Given the description of an element on the screen output the (x, y) to click on. 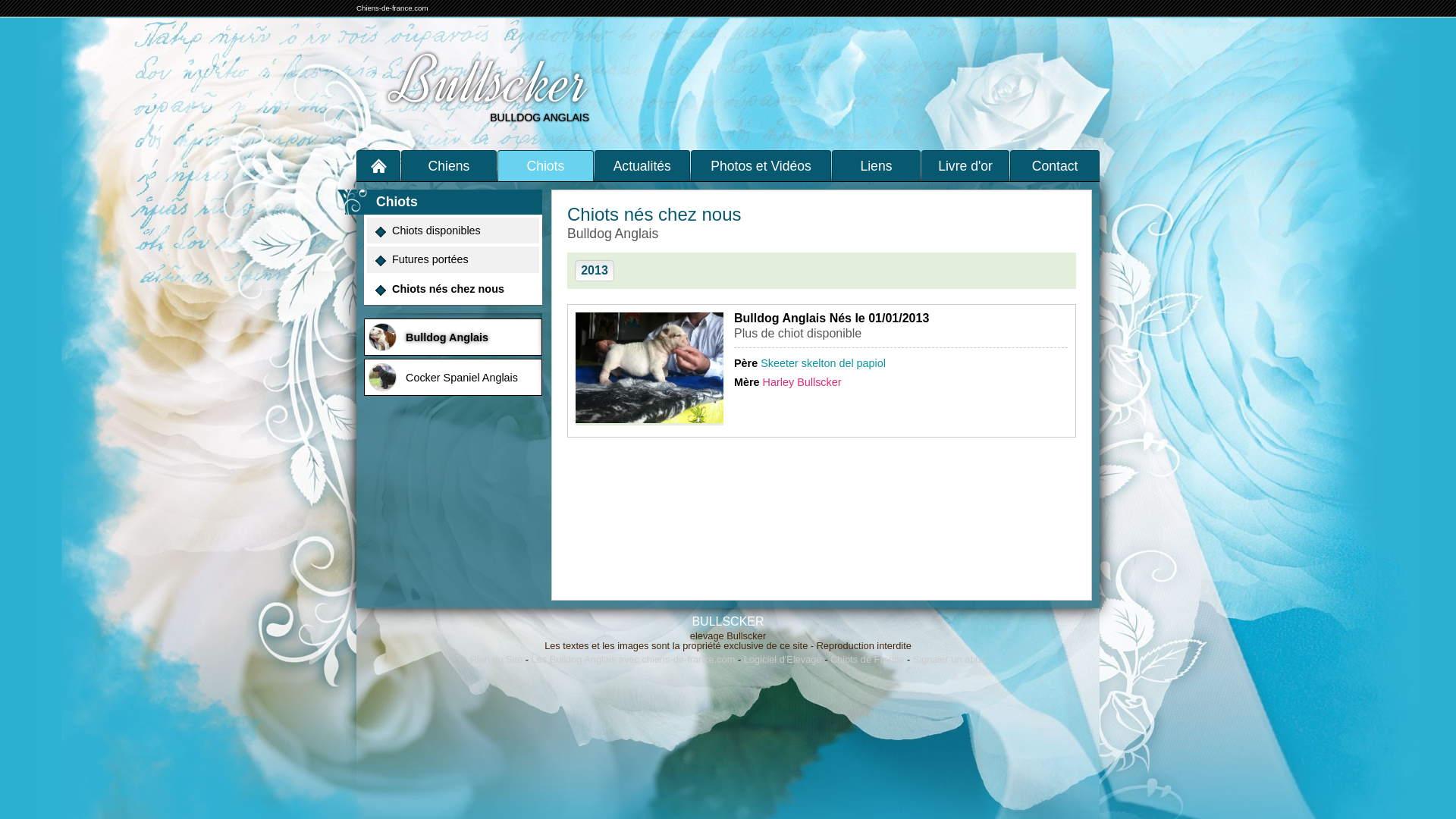
Chiots de France Element type: text (866, 659)
Les Bulldog Anglais avec chiens-de-france.com Element type: text (633, 659)
Bulldog Anglais Element type: text (453, 336)
Chiots disponibles Element type: text (453, 230)
2013 Element type: text (594, 270)
Liens Element type: text (875, 165)
Signaler un abus Element type: text (949, 659)
BULLSCKER Element type: text (727, 621)
Contact Element type: text (1054, 165)
Cocker Spaniel Anglais Element type: text (453, 376)
Chiens Element type: text (448, 165)
Chiens-de-france.com Element type: text (391, 8)
Logiciel d'Elevage Element type: text (782, 659)
Livre d'or Element type: text (965, 165)
Plan du Site Element type: text (496, 659)
Bullscker Element type: text (484, 81)
Chiots Element type: text (545, 165)
Accueil Element type: hover (378, 165)
